Given the description of an element on the screen output the (x, y) to click on. 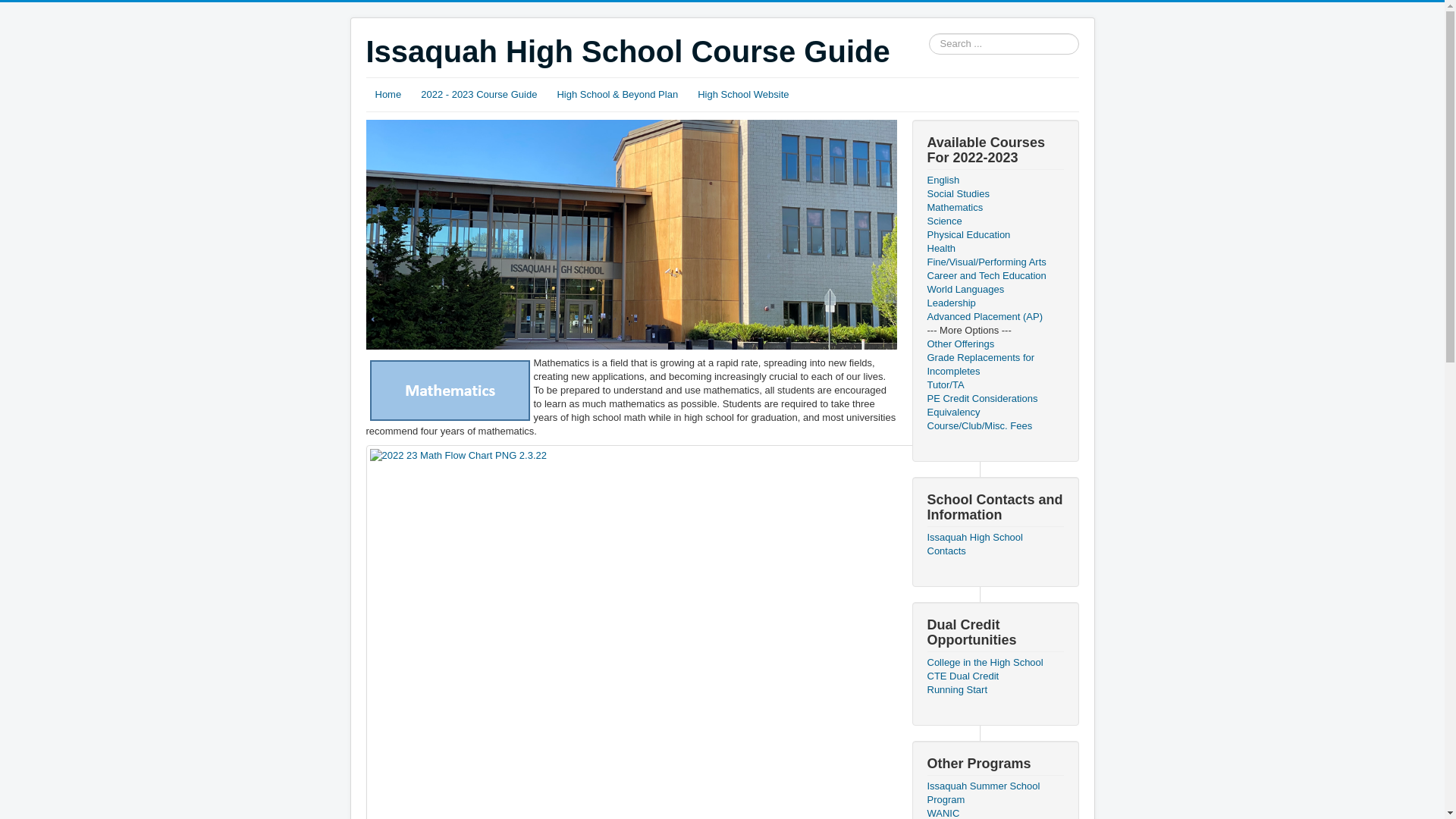
High School Website (742, 94)
Issaquah High School Course Guide (627, 51)
2022 - 2023 Course Guide (479, 94)
Home (387, 94)
Issaquah High School Course Guide (627, 51)
English (994, 180)
